Given the description of an element on the screen output the (x, y) to click on. 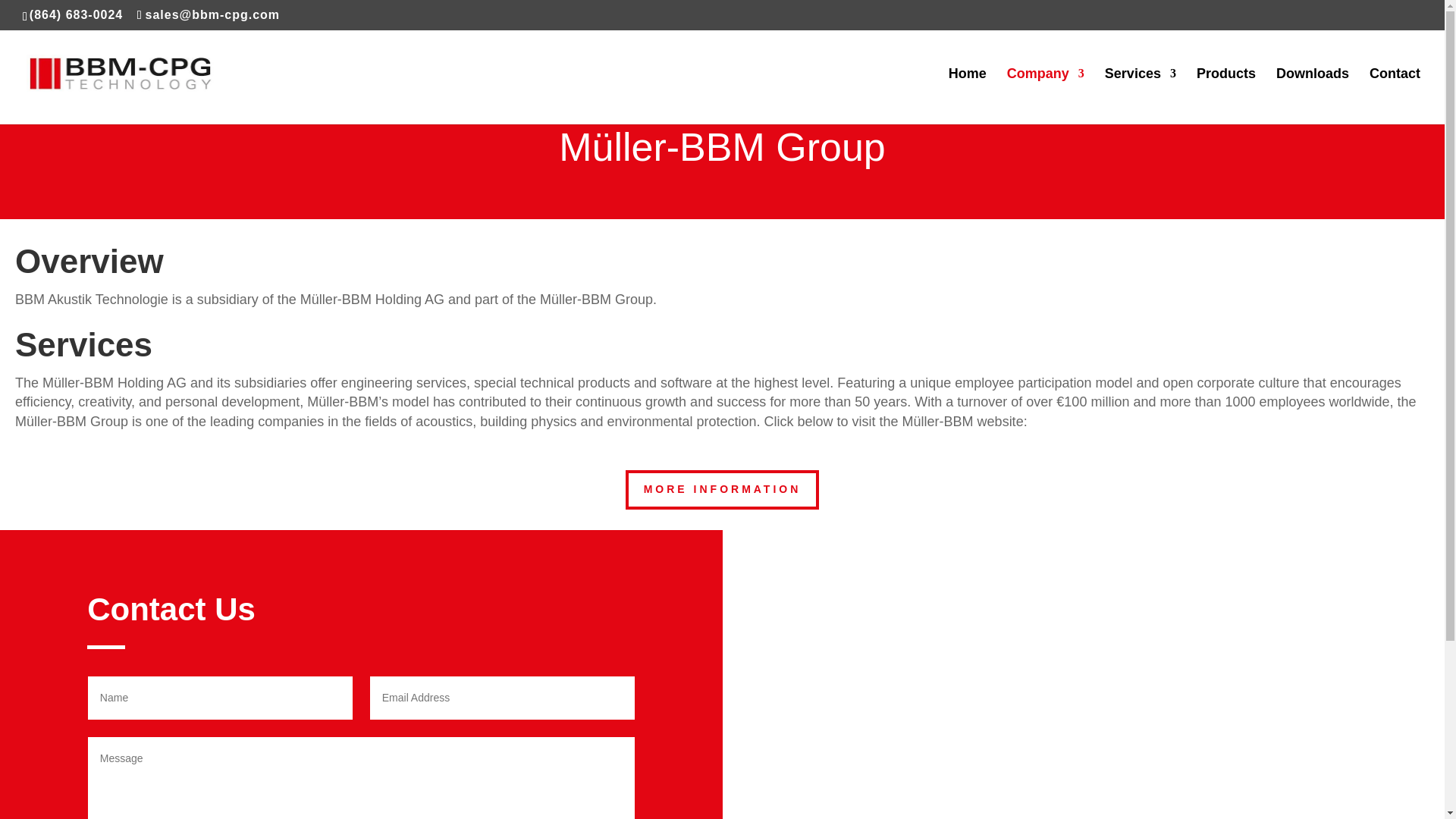
Contact (1395, 95)
Products (1225, 95)
Company (1045, 95)
MORE INFORMATION (722, 489)
Downloads (1312, 95)
Services (1140, 95)
